Given the description of an element on the screen output the (x, y) to click on. 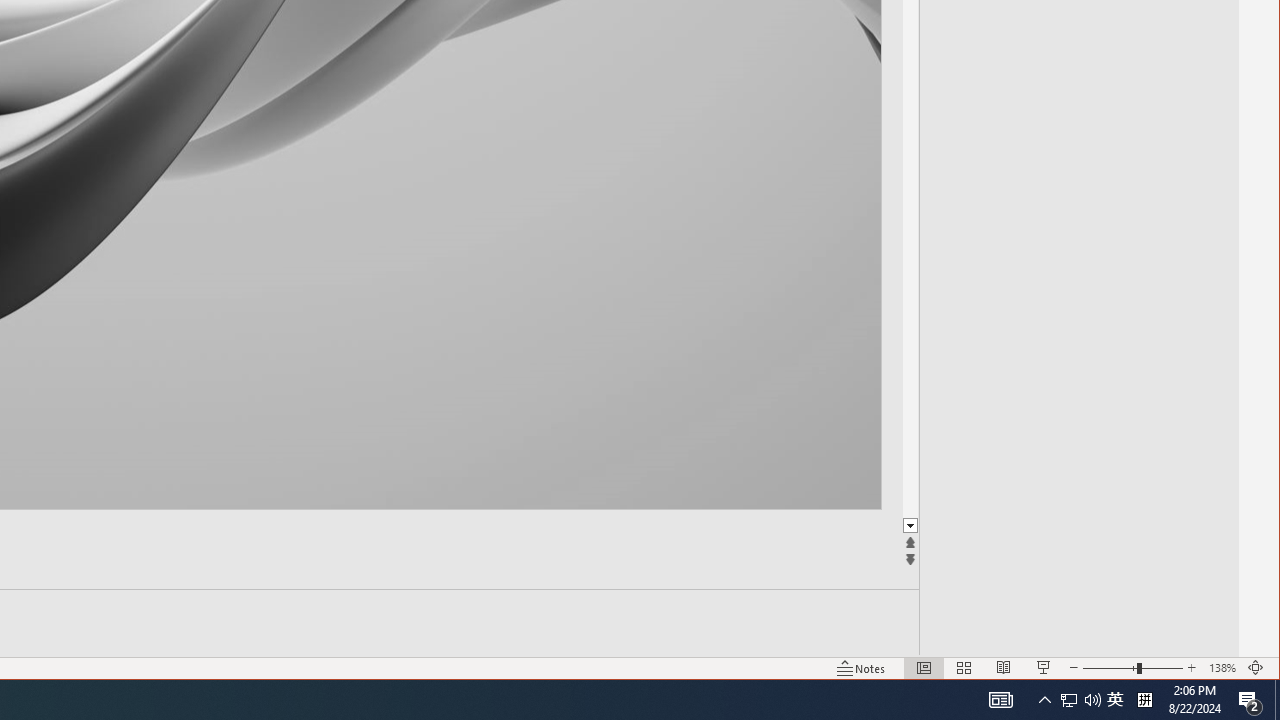
Zoom 138% (1222, 668)
